Given the description of an element on the screen output the (x, y) to click on. 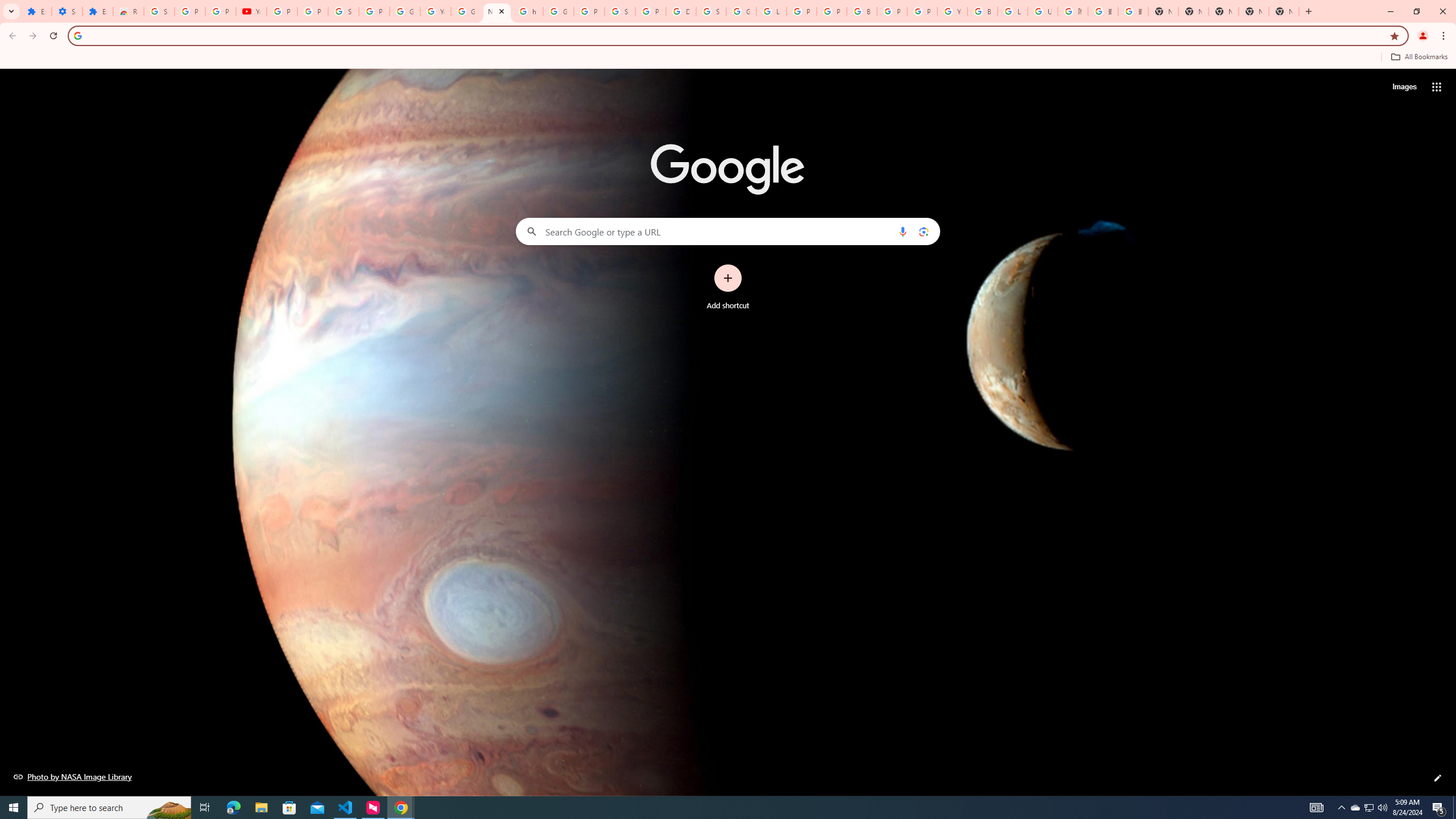
YouTube (434, 11)
Browse Chrome as a guest - Computer - Google Chrome Help (982, 11)
New Tab (1283, 11)
Search for Images  (1403, 87)
YouTube (251, 11)
YouTube (951, 11)
Address and search bar (735, 35)
Sign in - Google Accounts (343, 11)
